Given the description of an element on the screen output the (x, y) to click on. 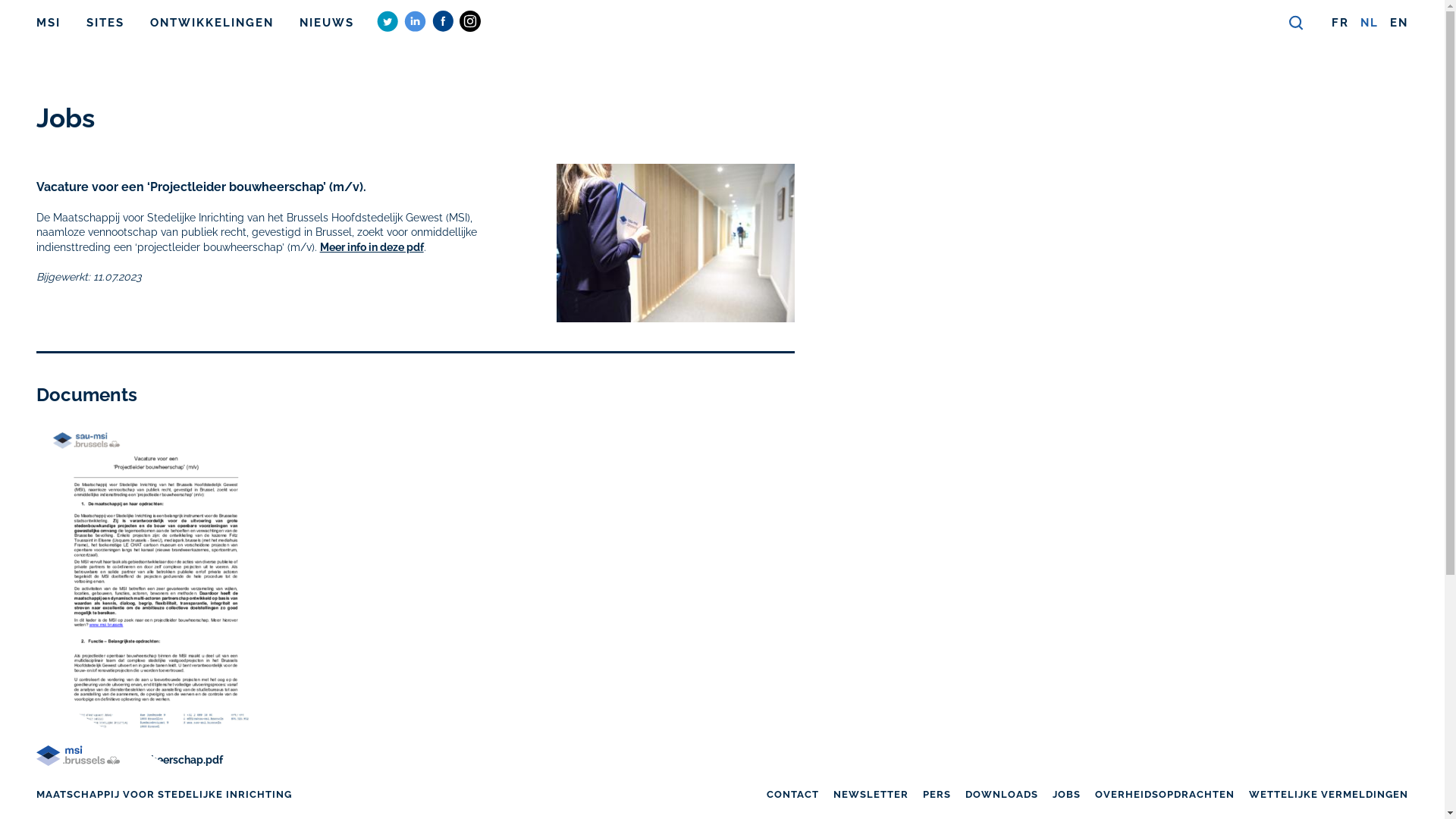
Home Element type: hover (77, 774)
ONTWIKKELINGEN Element type: text (211, 22)
MSI Element type: text (48, 22)
Zoeken Element type: text (1296, 23)
OVERHEIDSOPDRACHTEN Element type: text (1164, 794)
NIEUWS Element type: text (326, 22)
JOBS Element type: text (1066, 794)
FR Element type: text (1340, 22)
NL Element type: text (1369, 22)
SITES Element type: text (105, 22)
CONTACT Element type: text (792, 794)
WETTELIJKE VERMELDINGEN Element type: text (1328, 794)
EN Element type: text (1399, 22)
DOWNLOADS Element type: text (1001, 794)
PERS Element type: text (936, 794)
NEWSLETTER Element type: text (870, 794)
Meer info in deze pdf Element type: text (371, 247)
